Given the description of an element on the screen output the (x, y) to click on. 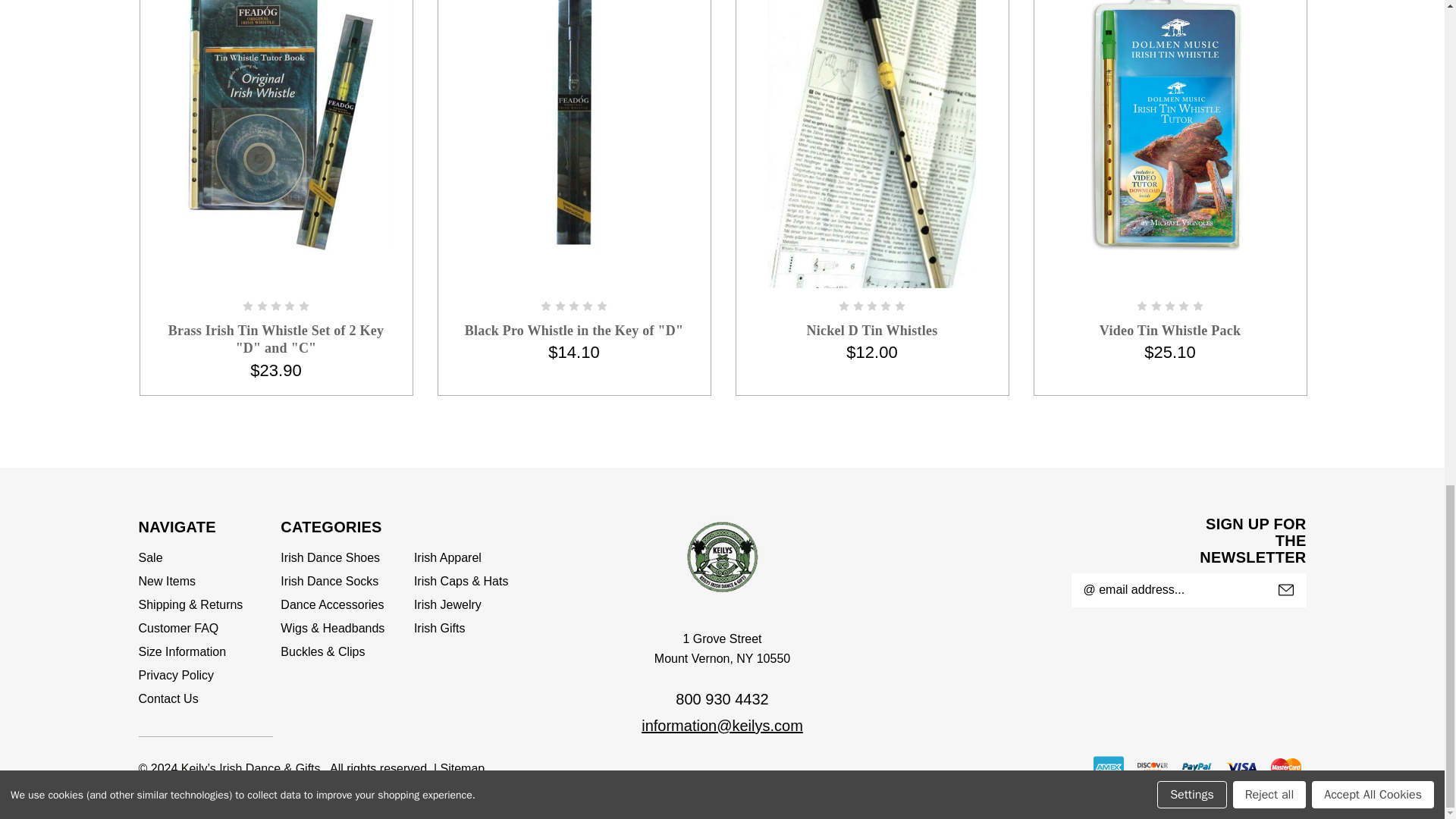
Nickel D Tin Whistles Shop online on Keilys.com (872, 144)
video-tin-whistle-pack-keilys.com (1169, 125)
